Given the description of an element on the screen output the (x, y) to click on. 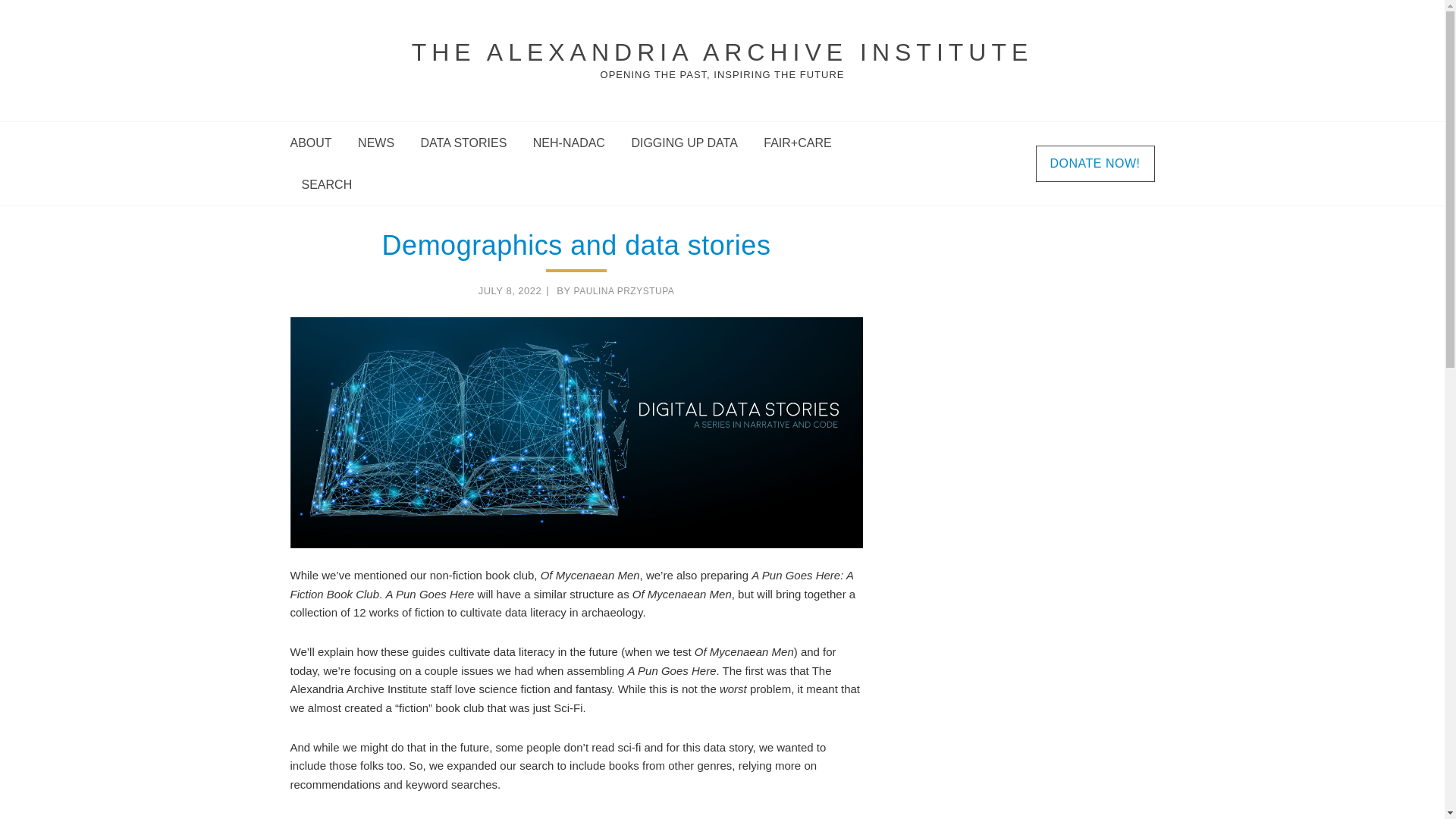
NEH-NADAC (568, 142)
The Alexandria Archive Institute (722, 52)
DIGGING UP DATA (684, 142)
NEWS (376, 142)
ABOUT (315, 142)
THE ALEXANDRIA ARCHIVE INSTITUTE (722, 52)
DATA STORIES (463, 142)
